Given the description of an element on the screen output the (x, y) to click on. 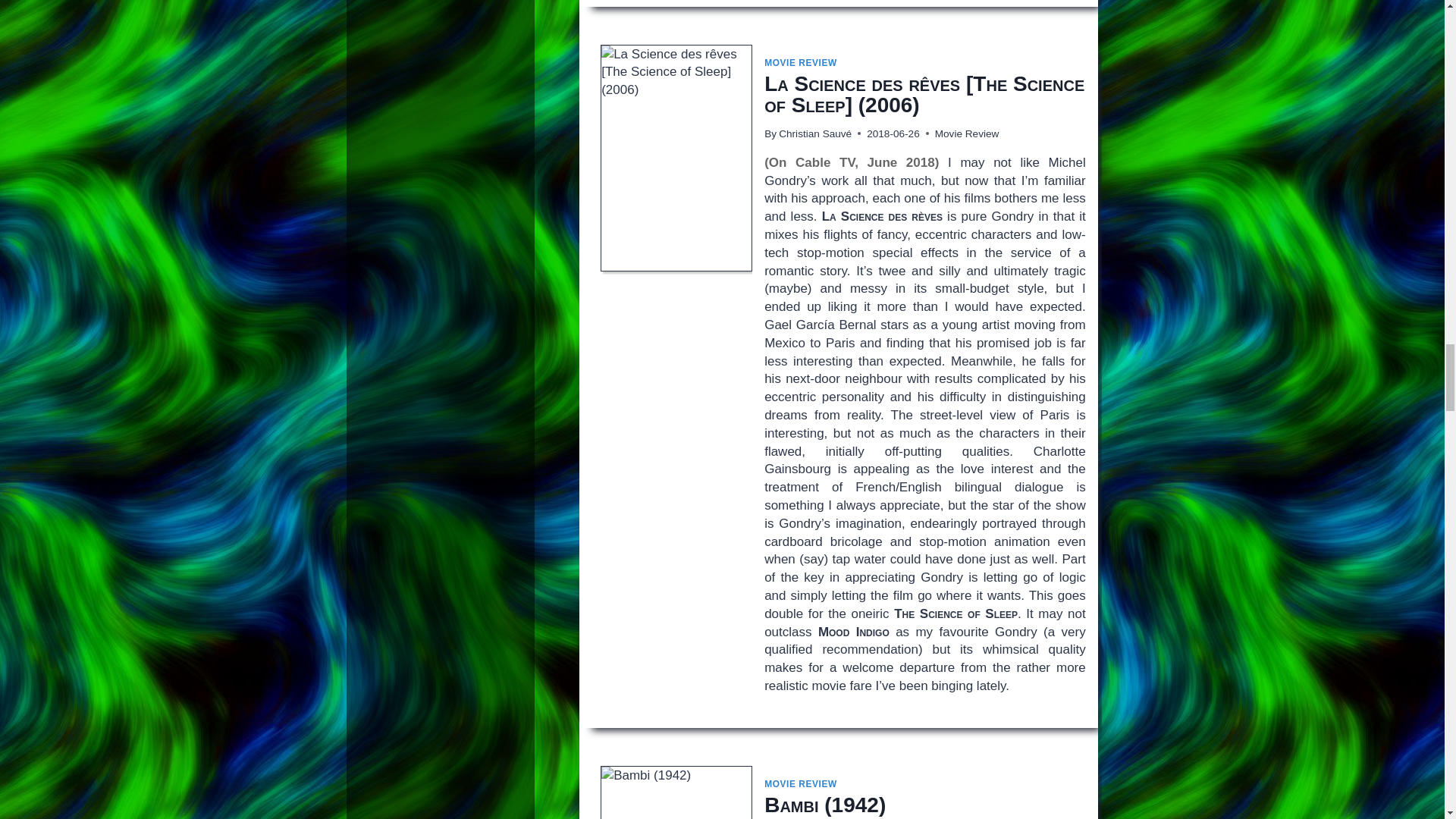
MOVIE REVIEW (800, 783)
Movie Review (966, 133)
MOVIE REVIEW (800, 62)
